Given the description of an element on the screen output the (x, y) to click on. 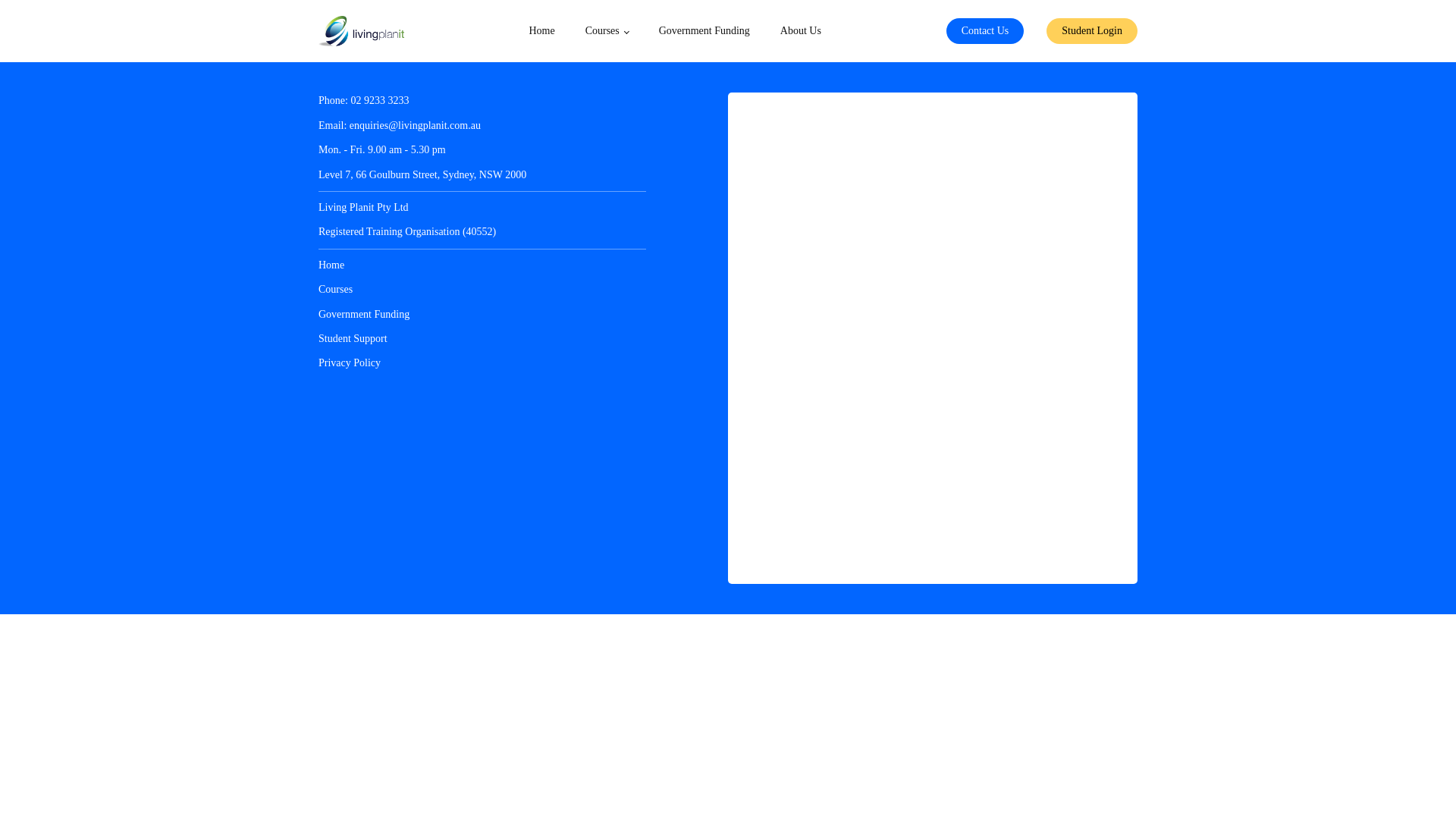
Contact Us Element type: text (985, 30)
Courses Element type: text (606, 31)
Student Login Element type: text (1091, 30)
Government Funding Element type: text (704, 31)
Courses Element type: text (335, 289)
Privacy Policy Element type: text (349, 362)
Home Element type: text (331, 265)
Home Element type: text (541, 31)
Government Funding Element type: text (363, 314)
About Us Element type: text (800, 31)
Student Support Element type: text (352, 338)
